Given the description of an element on the screen output the (x, y) to click on. 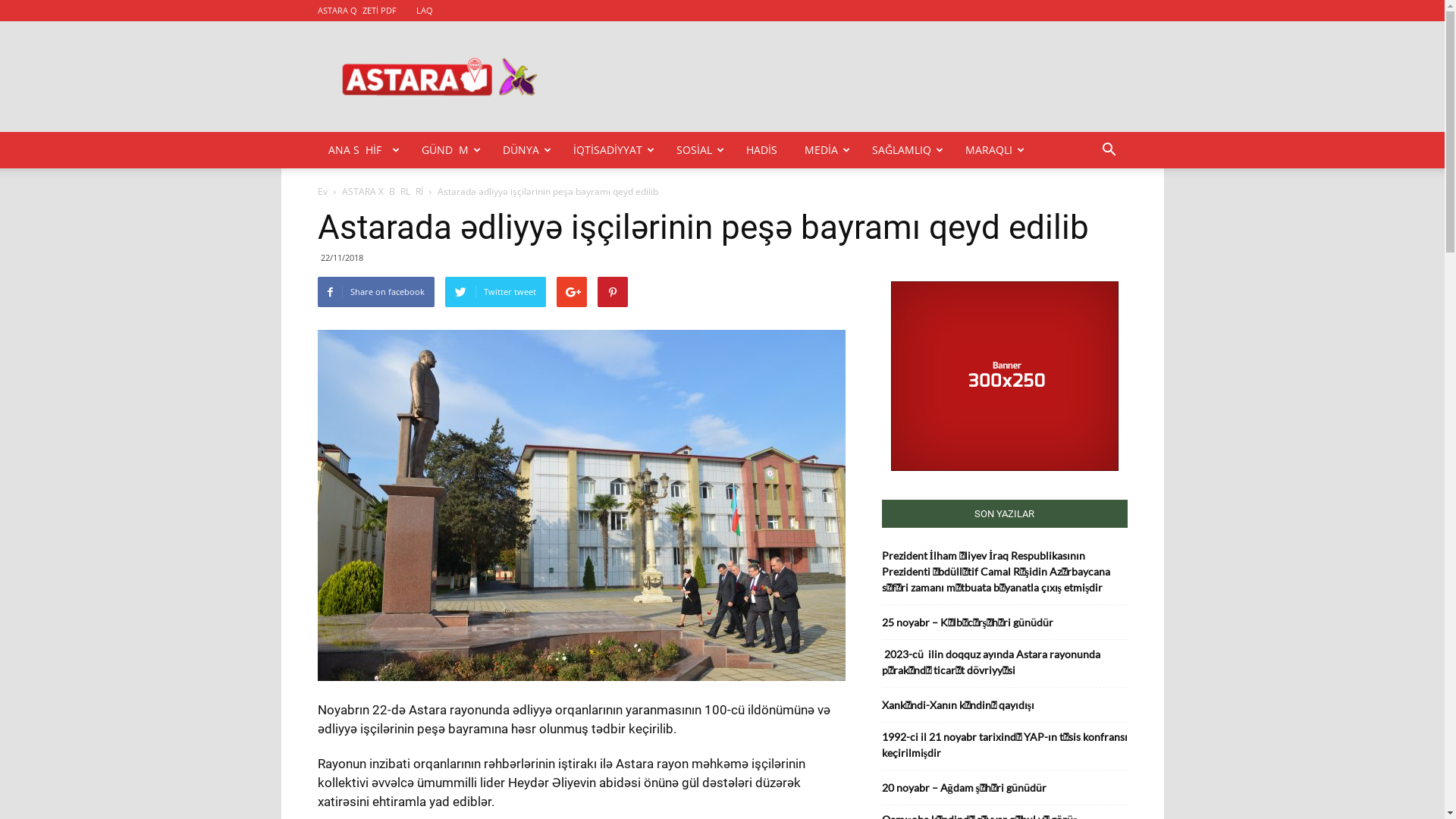
Share on facebook Element type: text (374, 291)
Ev Element type: text (321, 191)
MARAQLI Element type: text (994, 149)
DSC_0005 Element type: hover (580, 504)
Twitter tweet Element type: text (494, 291)
